Given the description of an element on the screen output the (x, y) to click on. 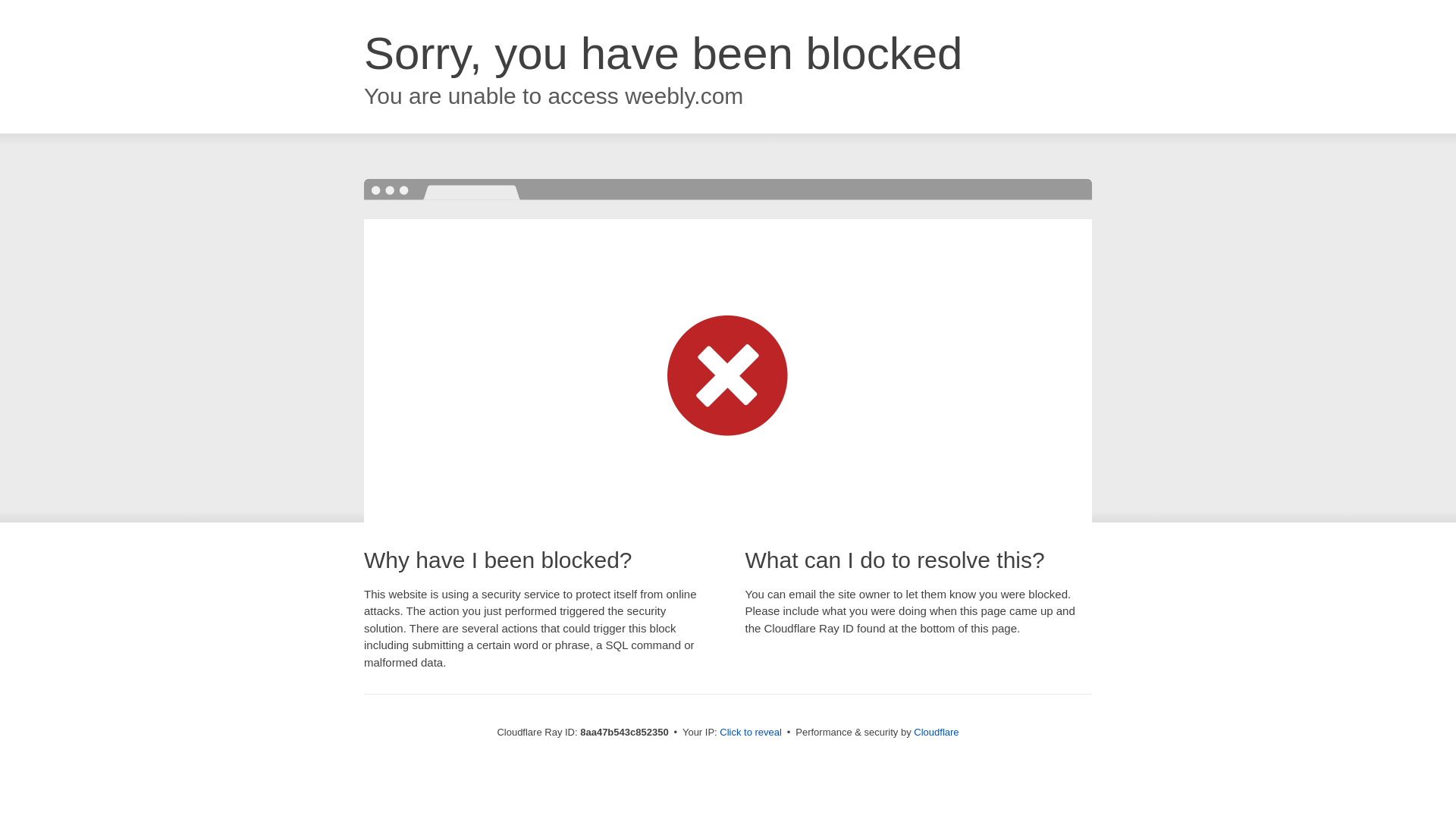
Click to reveal (750, 732)
Cloudflare (936, 731)
